Given the description of an element on the screen output the (x, y) to click on. 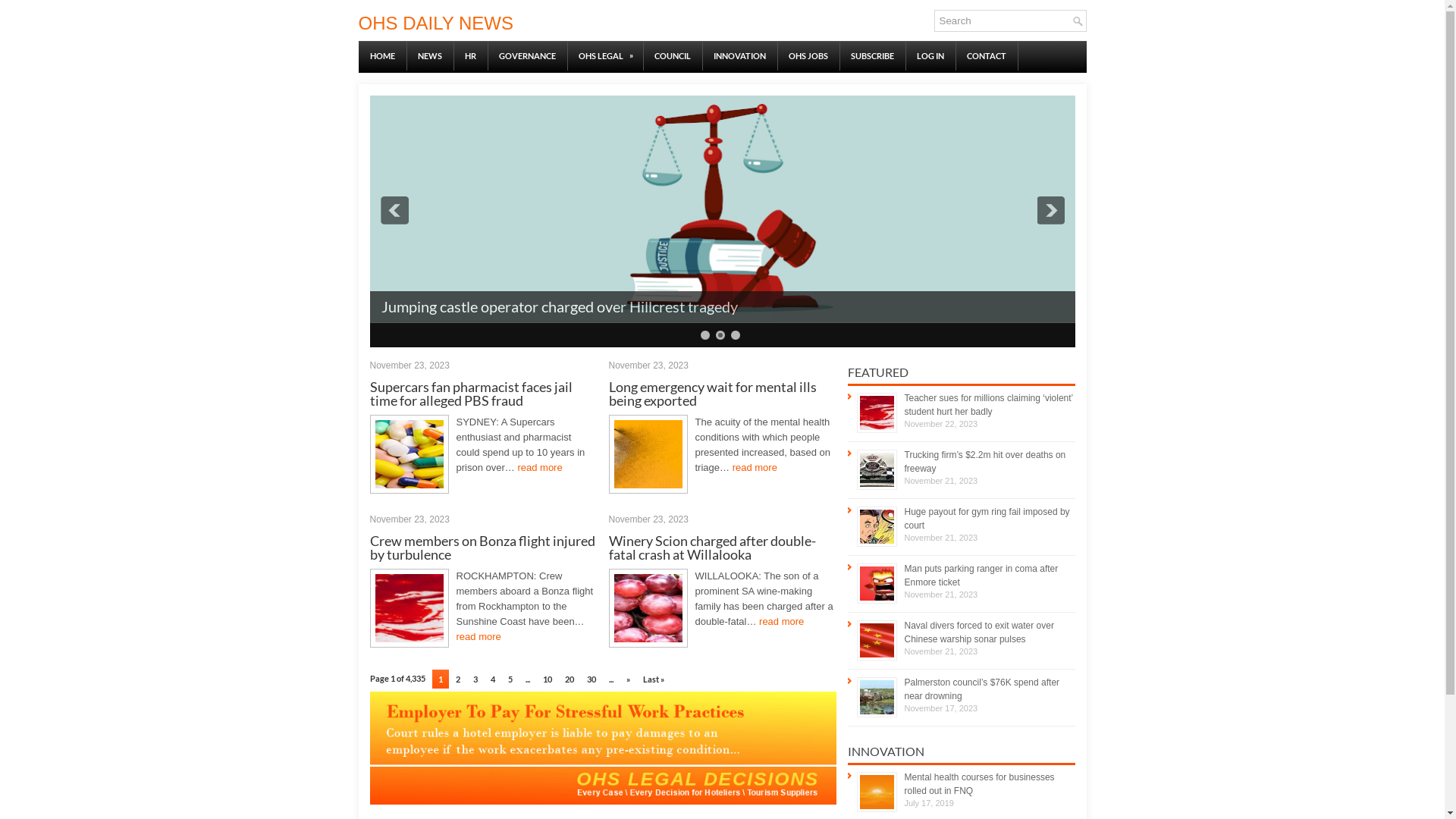
Crew members on Bonza flight injured by turbulence Element type: text (482, 547)
4 Element type: text (492, 678)
read more Element type: text (781, 621)
3 Element type: text (475, 678)
Man puts parking ranger in coma after Enmore ticket Element type: text (980, 575)
5 Element type: text (510, 678)
2 Element type: text (457, 678)
Jumping castle operator charged over Hillcrest tragedy Element type: text (558, 306)
Huge payout for gym ring fail imposed by court Element type: text (986, 518)
NEWS Element type: text (429, 55)
OHS JOBS Element type: text (807, 55)
Long emergency wait for mental ills being exported Element type: text (711, 393)
Winery Scion charged after double-fatal crash at Willalooka Element type: text (711, 547)
OHS DAILY NEWS Element type: text (435, 22)
SUBSCRIBE Element type: text (871, 55)
GOVERNANCE Element type: text (526, 55)
2 Element type: text (719, 334)
CONTACT Element type: text (986, 55)
INNOVATION Element type: text (739, 55)
HOME Element type: text (381, 55)
Mental health courses for businesses rolled out in FNQ Element type: text (978, 783)
HR Element type: text (470, 55)
read more Element type: text (478, 636)
30 Element type: text (591, 678)
3 Element type: text (735, 334)
Jumping castle operator charged over Hillcrest tragedy Element type: hover (722, 318)
10 Element type: text (547, 678)
read more Element type: text (539, 467)
COUNCIL Element type: text (672, 55)
Type and hit enter Element type: hover (1010, 20)
20 Element type: text (569, 678)
LOG IN Element type: text (930, 55)
read more Element type: text (754, 467)
1 Element type: text (704, 334)
